Given the description of an element on the screen output the (x, y) to click on. 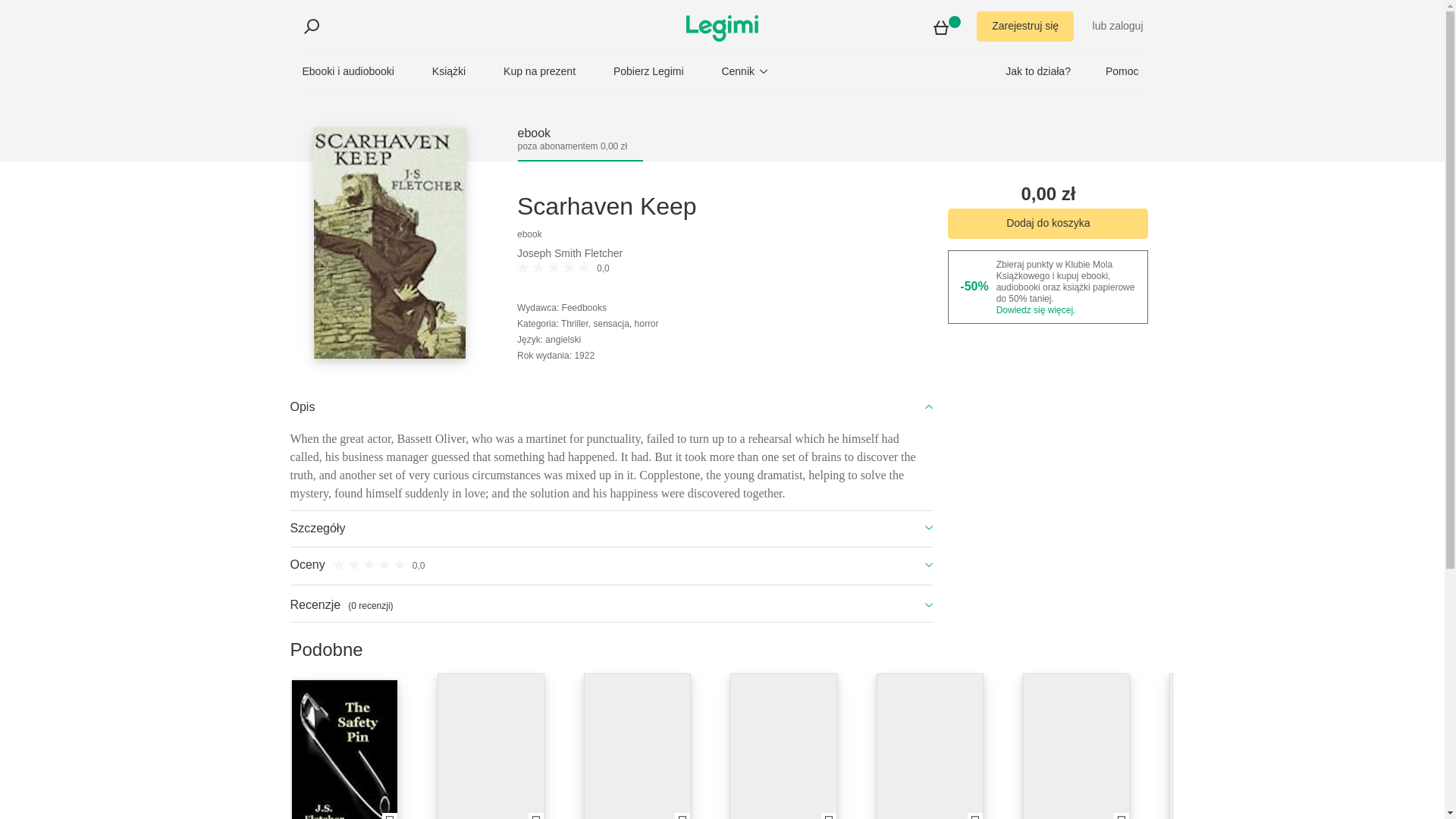
Cennik (746, 71)
Ebooki i audiobooki (347, 70)
Pobierz Legimi (648, 70)
zaloguj (1125, 25)
Kup na prezent (539, 70)
